Given the description of an element on the screen output the (x, y) to click on. 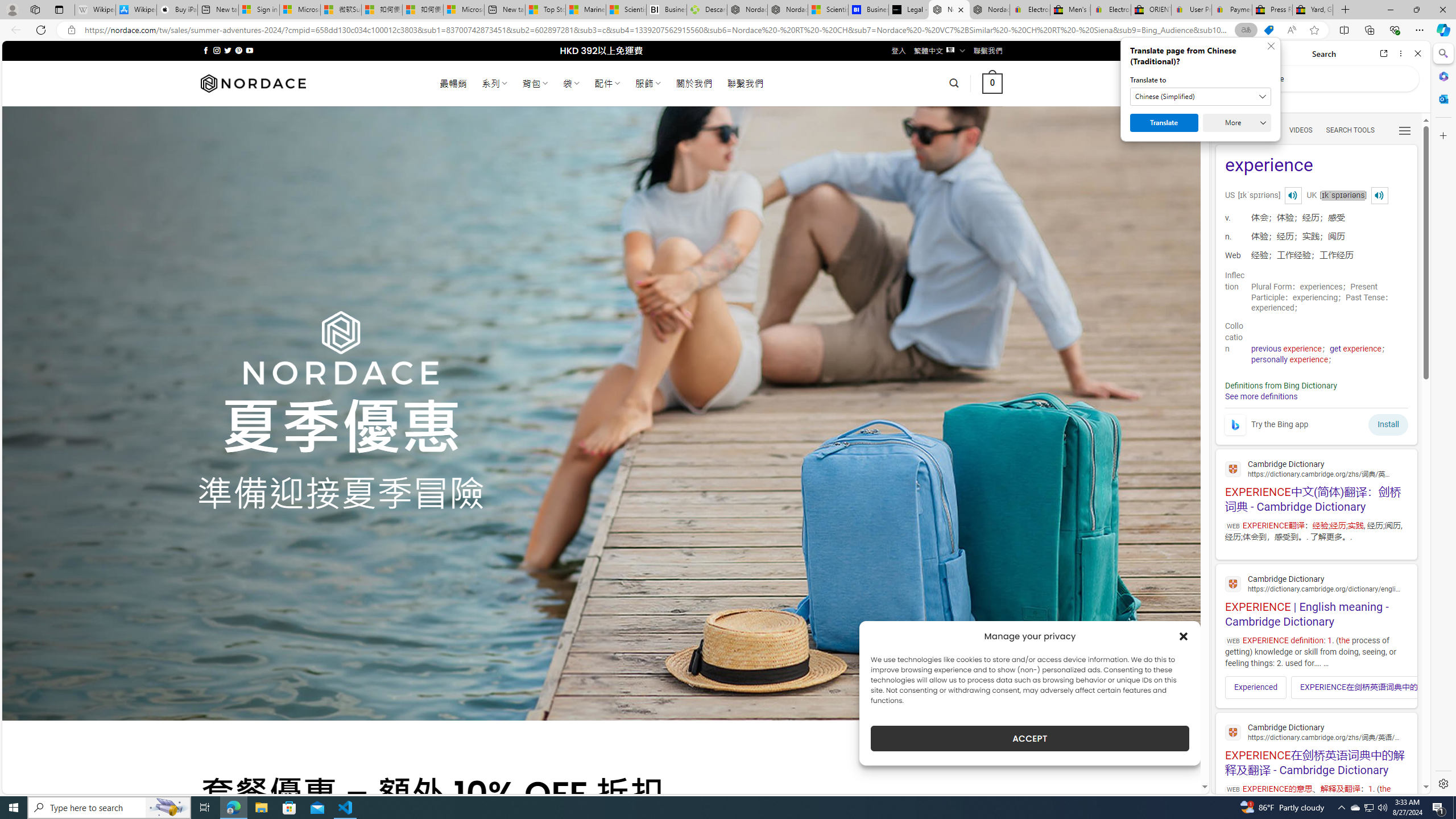
WEB   (1230, 130)
Class: cmplz-close (1183, 636)
Show translate options (1245, 29)
Search Filter, Search Tools (1350, 129)
Translate to (1200, 96)
Nordace (252, 83)
